Given the description of an element on the screen output the (x, y) to click on. 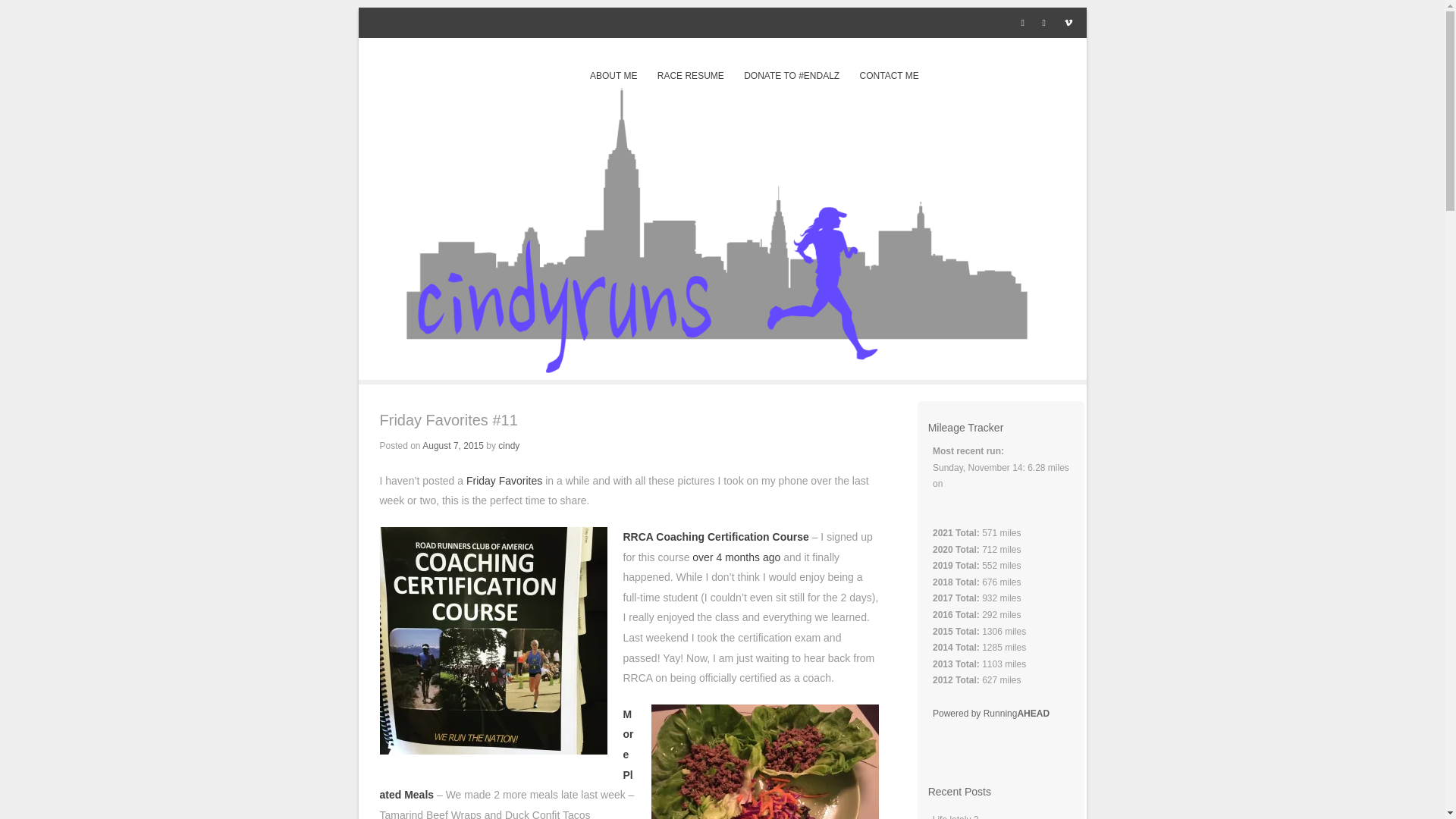
Friday Favorites (503, 480)
Skip to content (630, 75)
cindy (508, 445)
August 7, 2015 (452, 445)
7:38 am (452, 445)
cindyruns (421, 67)
cindyruns (722, 369)
RACE RESUME (689, 75)
SKIP TO CONTENT (630, 75)
cindyruns (421, 67)
More Plated Meals (505, 754)
ABOUT ME (613, 75)
over 4 months ago (736, 557)
CONTACT ME (888, 75)
View all posts by cindy (508, 445)
